Given the description of an element on the screen output the (x, y) to click on. 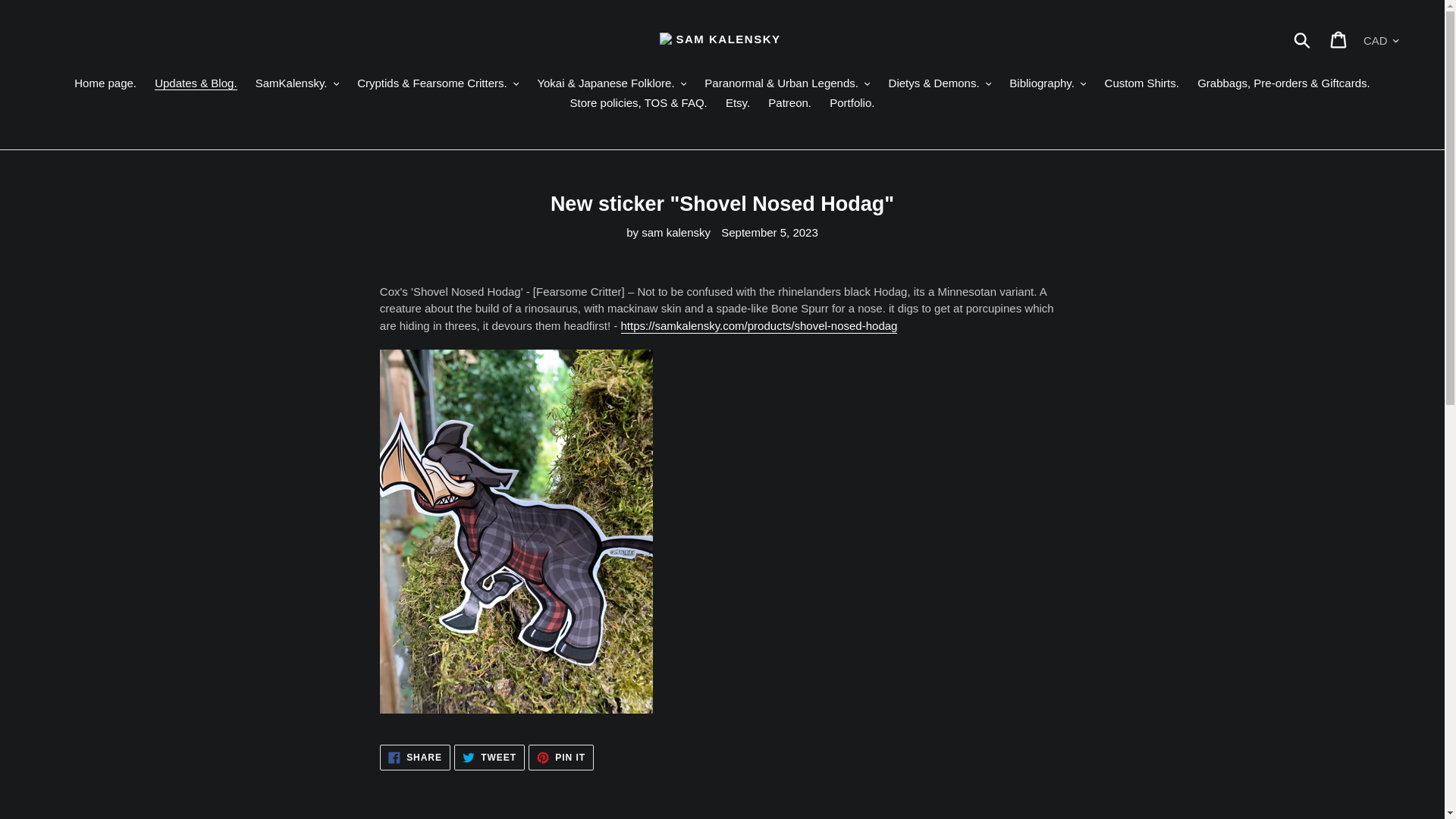
Submit (1303, 39)
Cart (1339, 39)
